Given the description of an element on the screen output the (x, y) to click on. 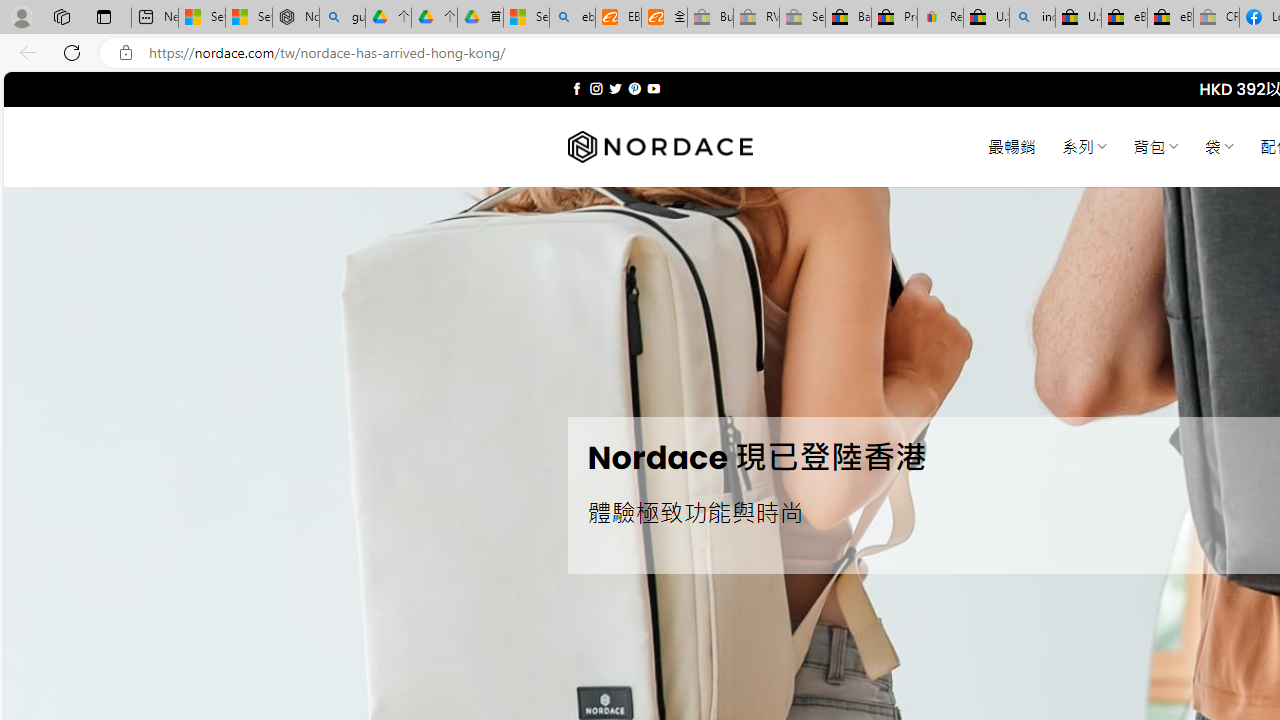
eBay Inc. Reports Third Quarter 2023 Results (1170, 17)
Follow on Instagram (596, 88)
Sell worldwide with eBay - Sleeping (802, 17)
Follow on Pinterest (634, 88)
U.S. State Privacy Disclosures - eBay Inc. (1078, 17)
guge yunpan - Search (342, 17)
